Given the description of an element on the screen output the (x, y) to click on. 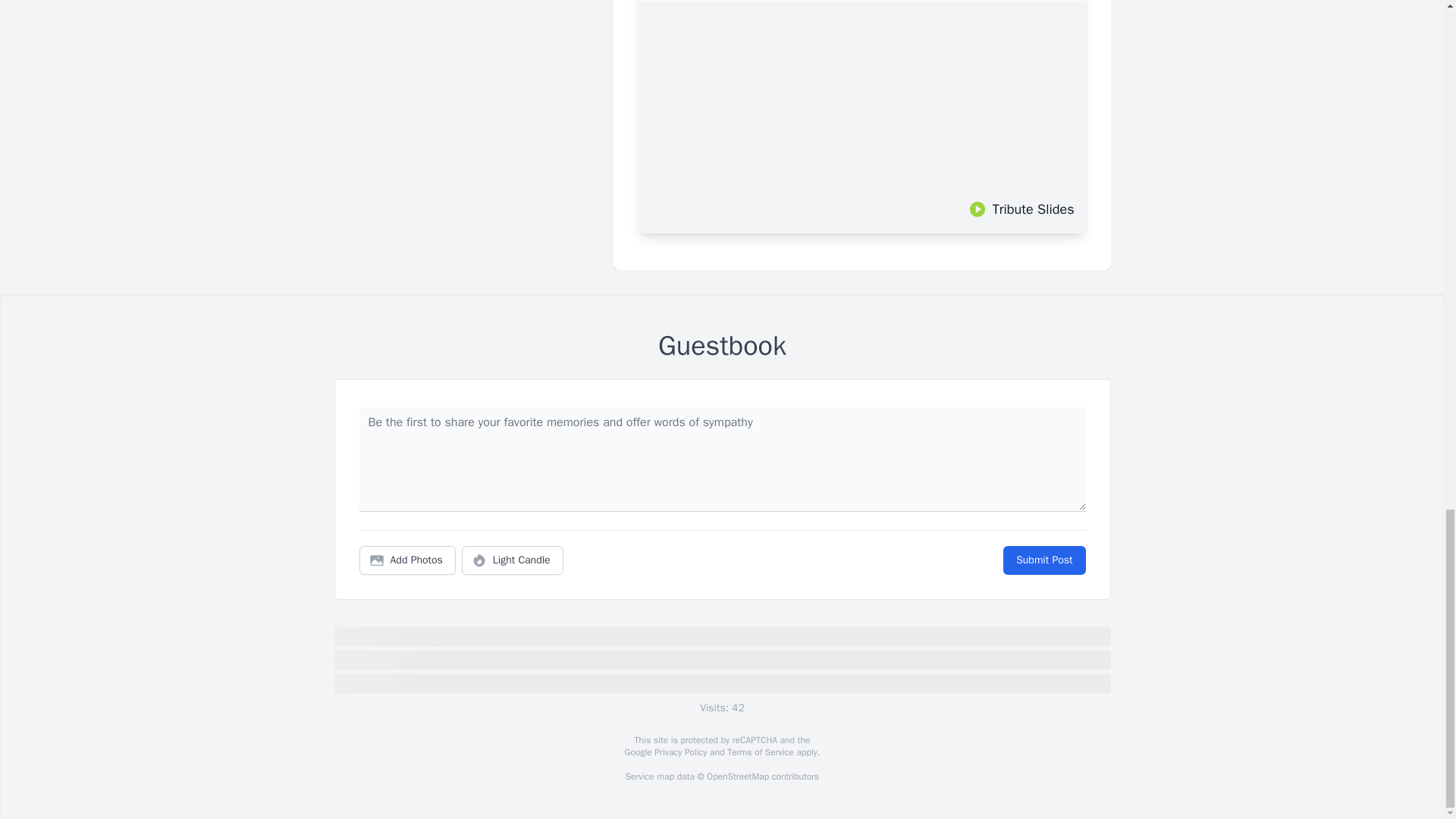
Add Photos (407, 560)
Terms of Service (759, 752)
Light Candle (512, 560)
Privacy Policy (679, 752)
OpenStreetMap (737, 776)
Submit Post (1043, 560)
